Given the description of an element on the screen output the (x, y) to click on. 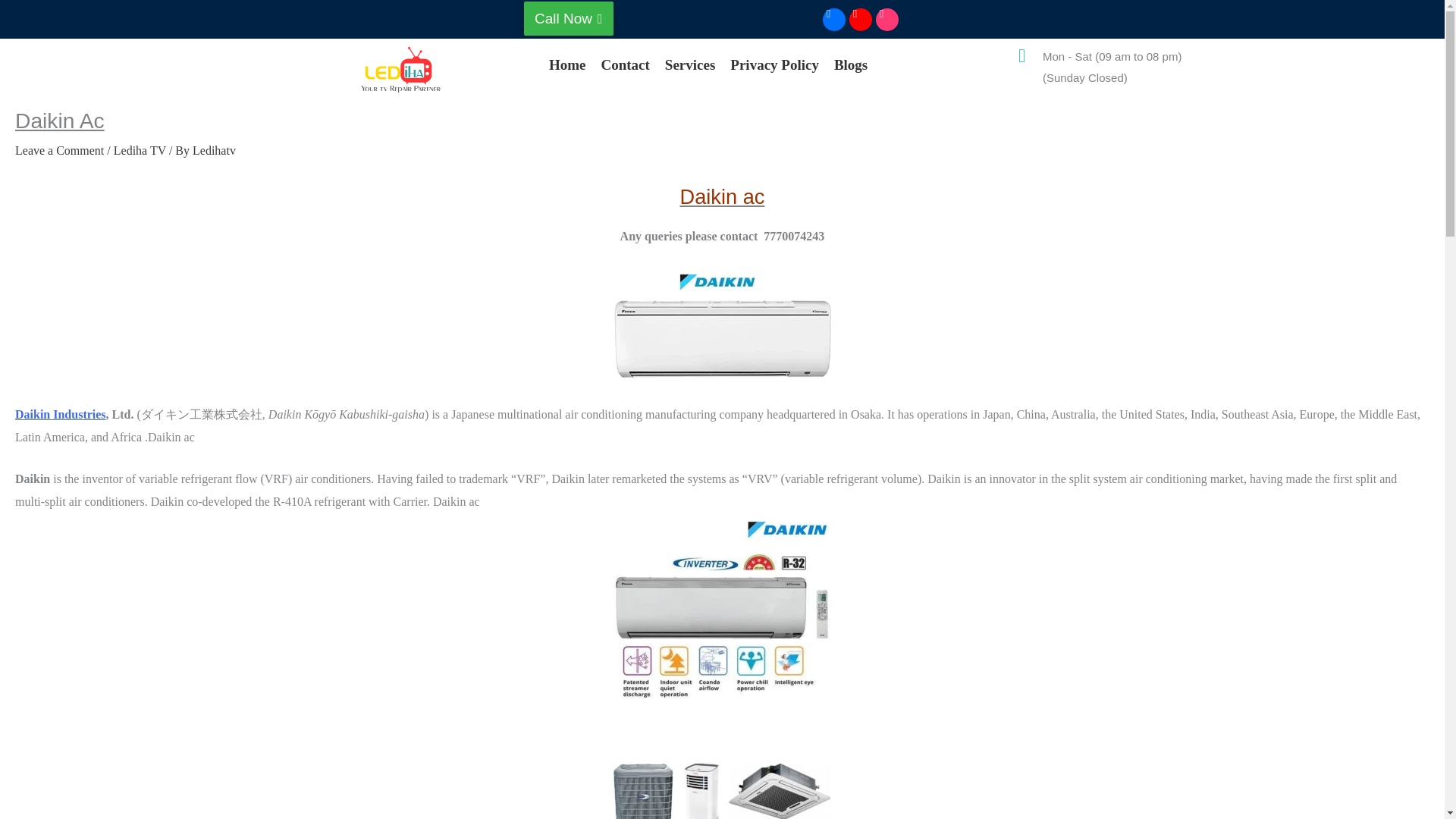
Hepburn transliteration (346, 413)
Daikin ac (721, 325)
Daikin ac (721, 626)
Call Now (568, 18)
Facebook (833, 18)
Home (567, 64)
Japanese-language text (201, 413)
Daikin Industries (60, 413)
View all posts by Ledihatv (213, 150)
Ledihatv (213, 150)
